Given the description of an element on the screen output the (x, y) to click on. 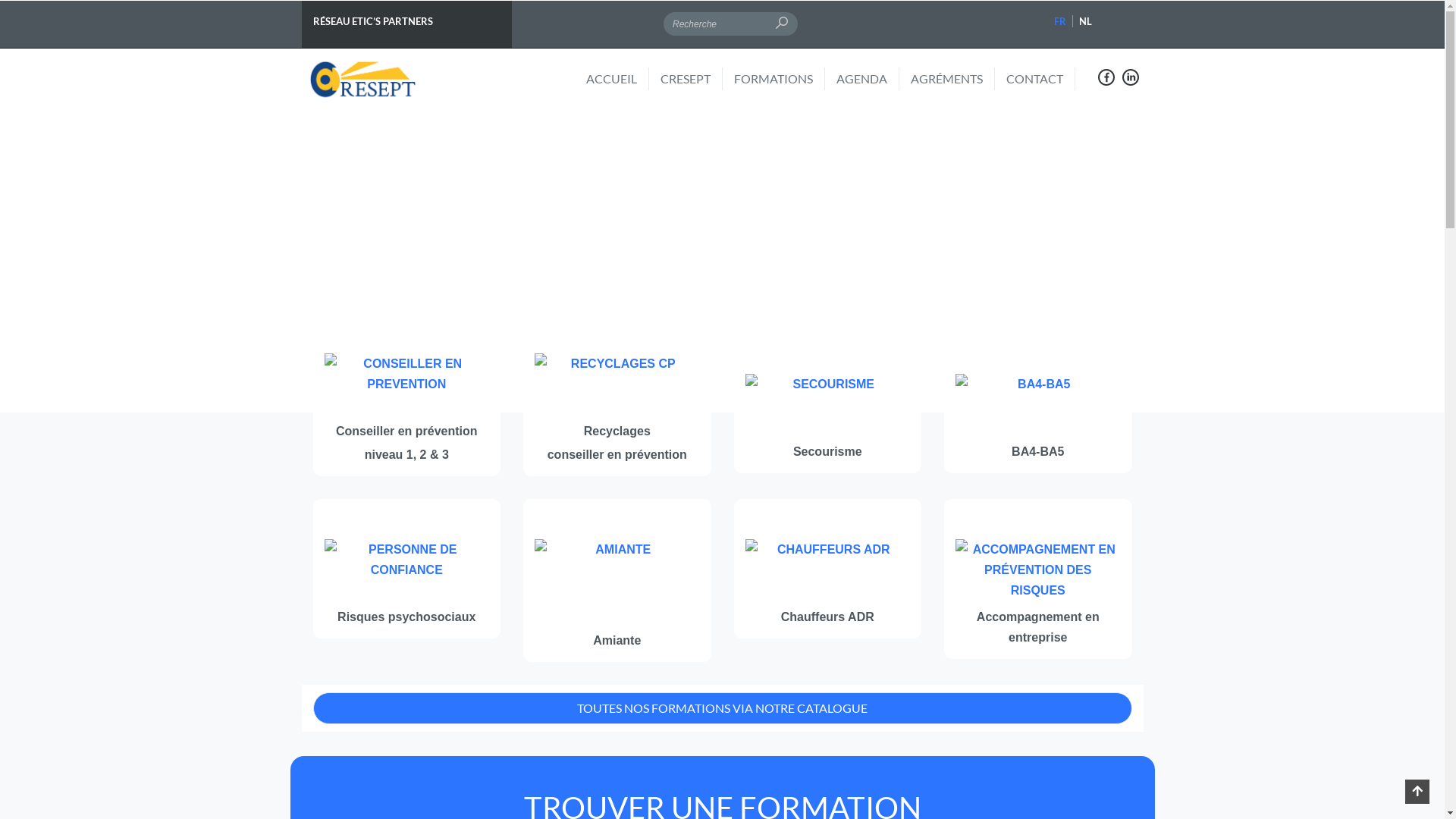
CRESEPT Element type: text (691, 78)
FR Element type: text (1060, 21)
Aller au contenu principal Element type: text (0, 0)
TOUTES NOS FORMATIONS VIA NOTRE CATALOGUE Element type: text (721, 708)
AGENDA Element type: text (867, 78)
FORMATIONS Element type: text (779, 78)
CONTACT Element type: text (1040, 78)
Search Element type: text (813, 23)
Search Element type: text (364, 62)
ACCUEIL Element type: text (617, 78)
NL Element type: text (1085, 21)
